Given the description of an element on the screen output the (x, y) to click on. 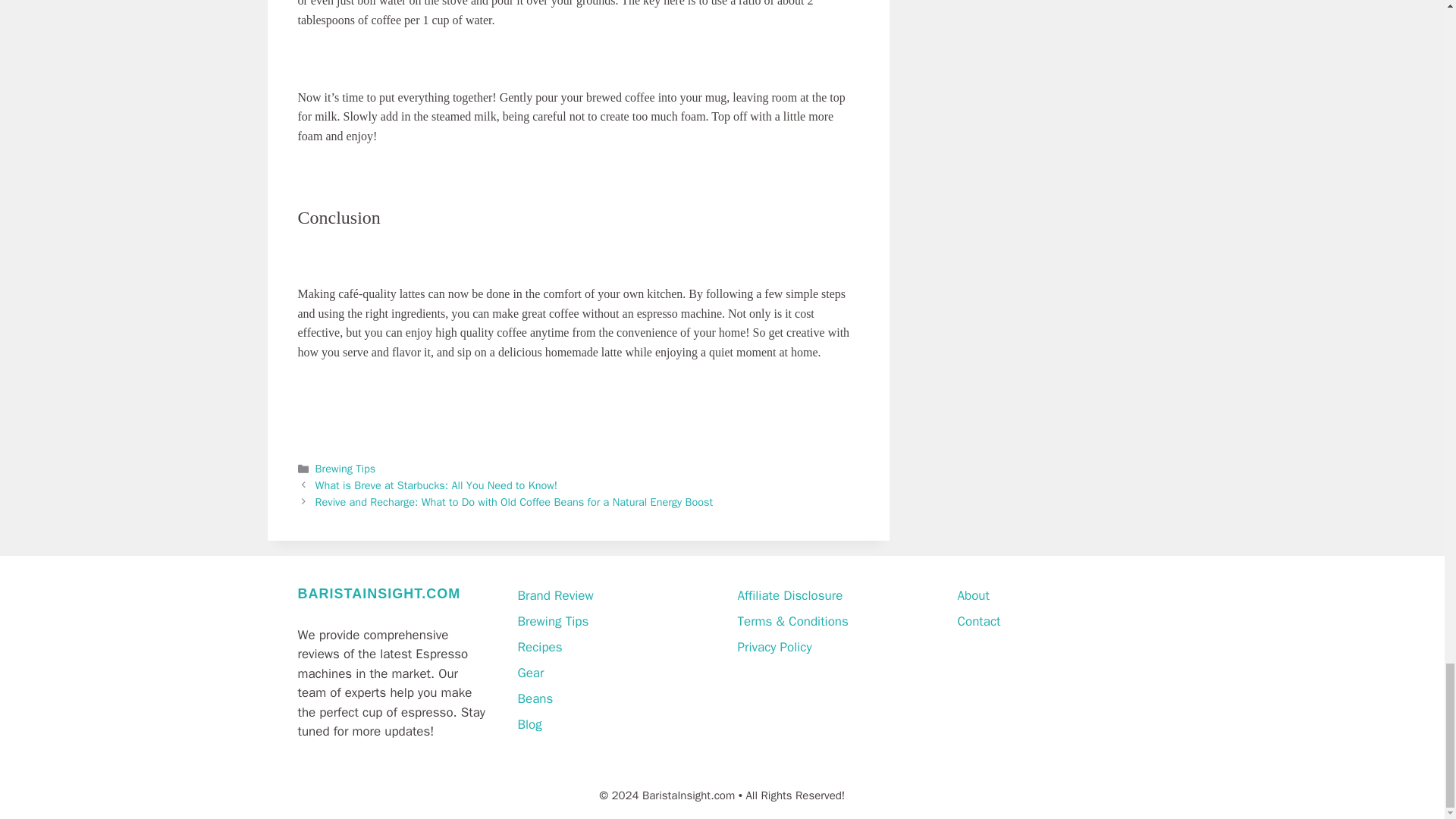
Brand Review (554, 595)
Gear (529, 672)
What is Breve at Starbucks: All You Need to Know! (436, 485)
Blog (528, 724)
Recipes (539, 647)
Brewing Tips (552, 621)
Affiliate Disclosure (789, 595)
Beans (534, 698)
Brewing Tips (345, 468)
